Given the description of an element on the screen output the (x, y) to click on. 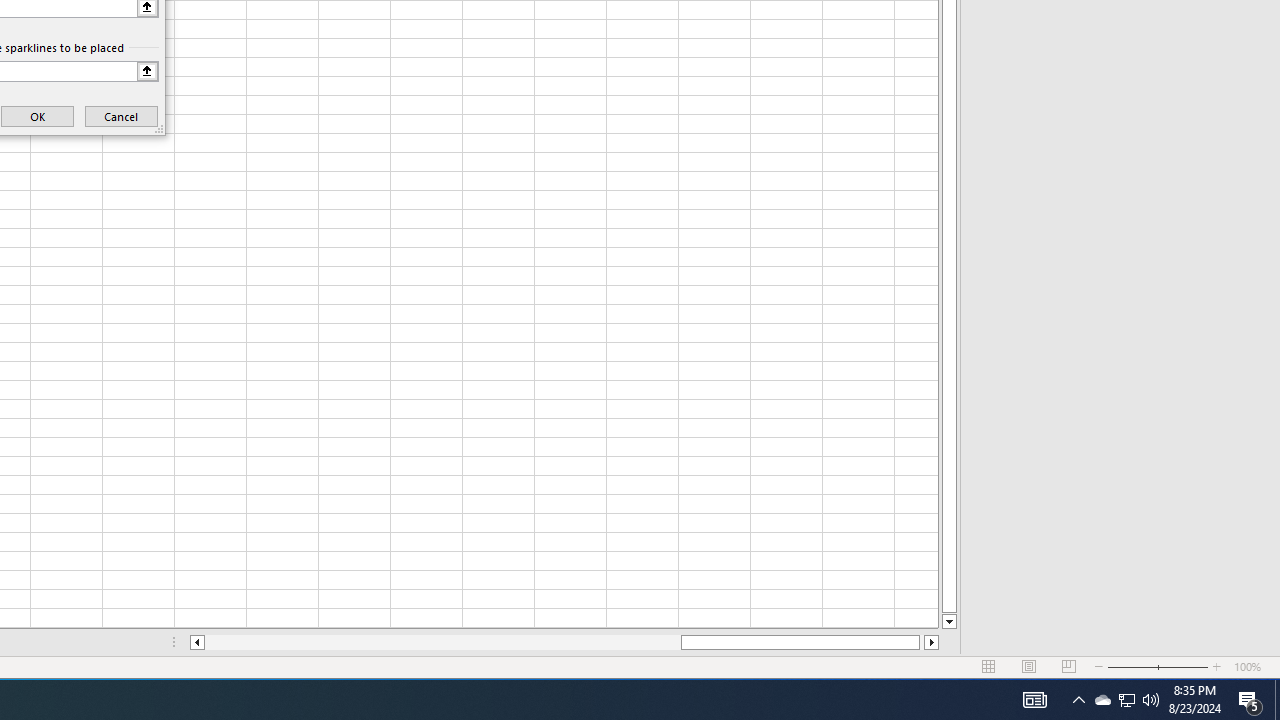
Page left (442, 642)
